Given the description of an element on the screen output the (x, y) to click on. 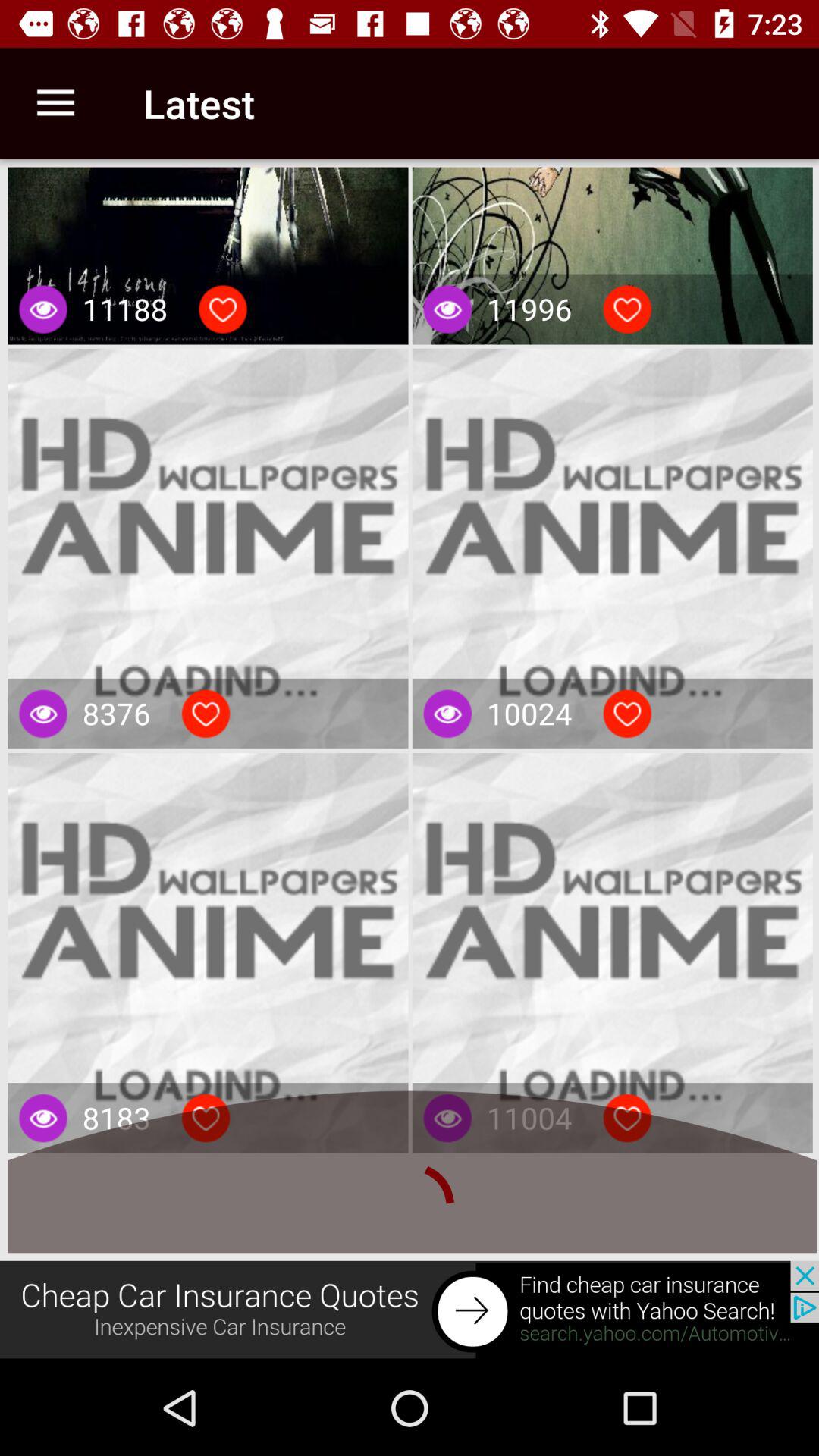
like this selection (627, 309)
